Given the description of an element on the screen output the (x, y) to click on. 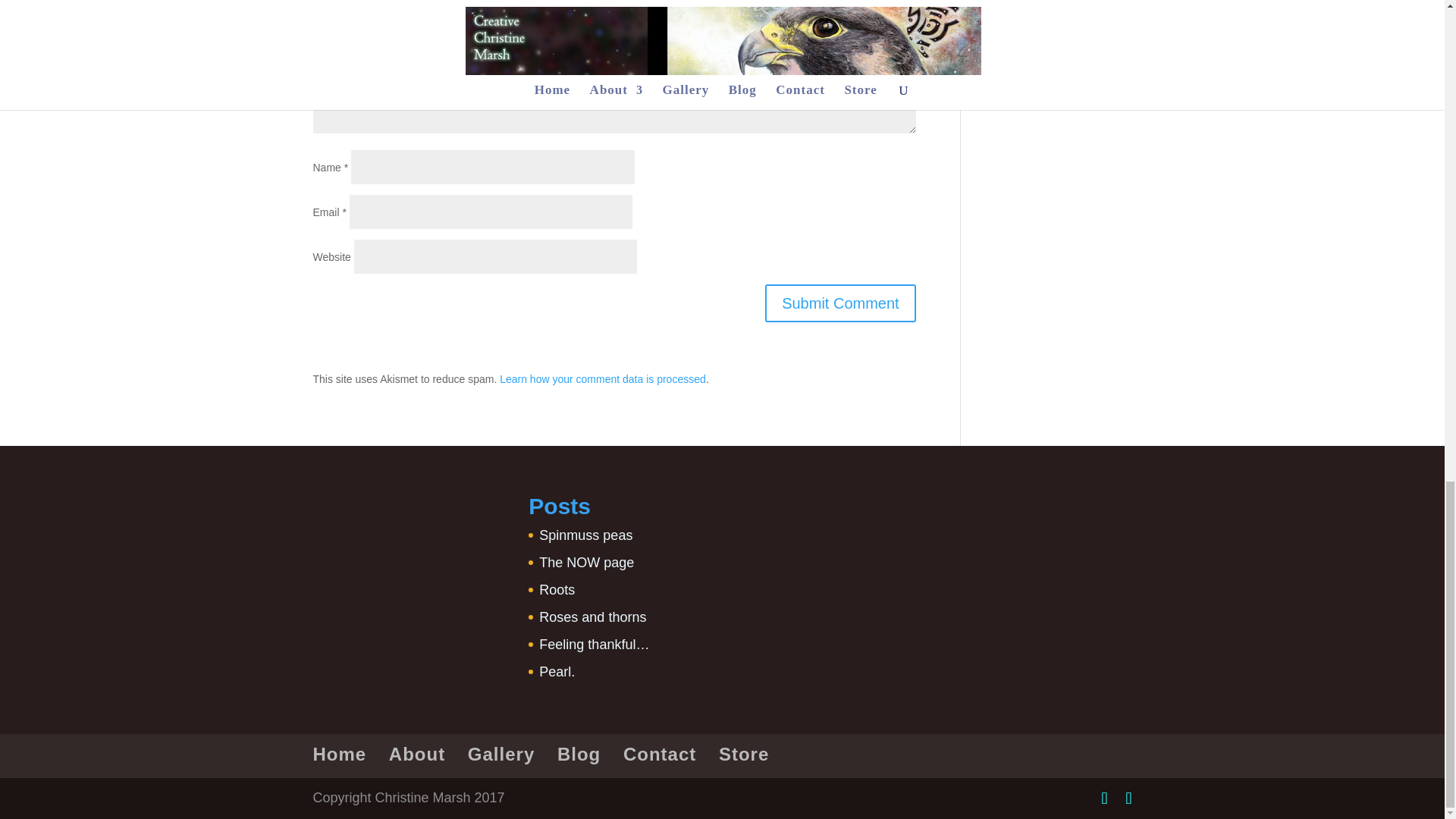
Store (743, 753)
Contact (659, 753)
Pearl. (556, 671)
Submit Comment (840, 303)
Home (339, 753)
Roots (556, 589)
Submit Comment (840, 303)
Home (339, 753)
Spinmuss peas (584, 534)
About (416, 753)
